Given the description of an element on the screen output the (x, y) to click on. 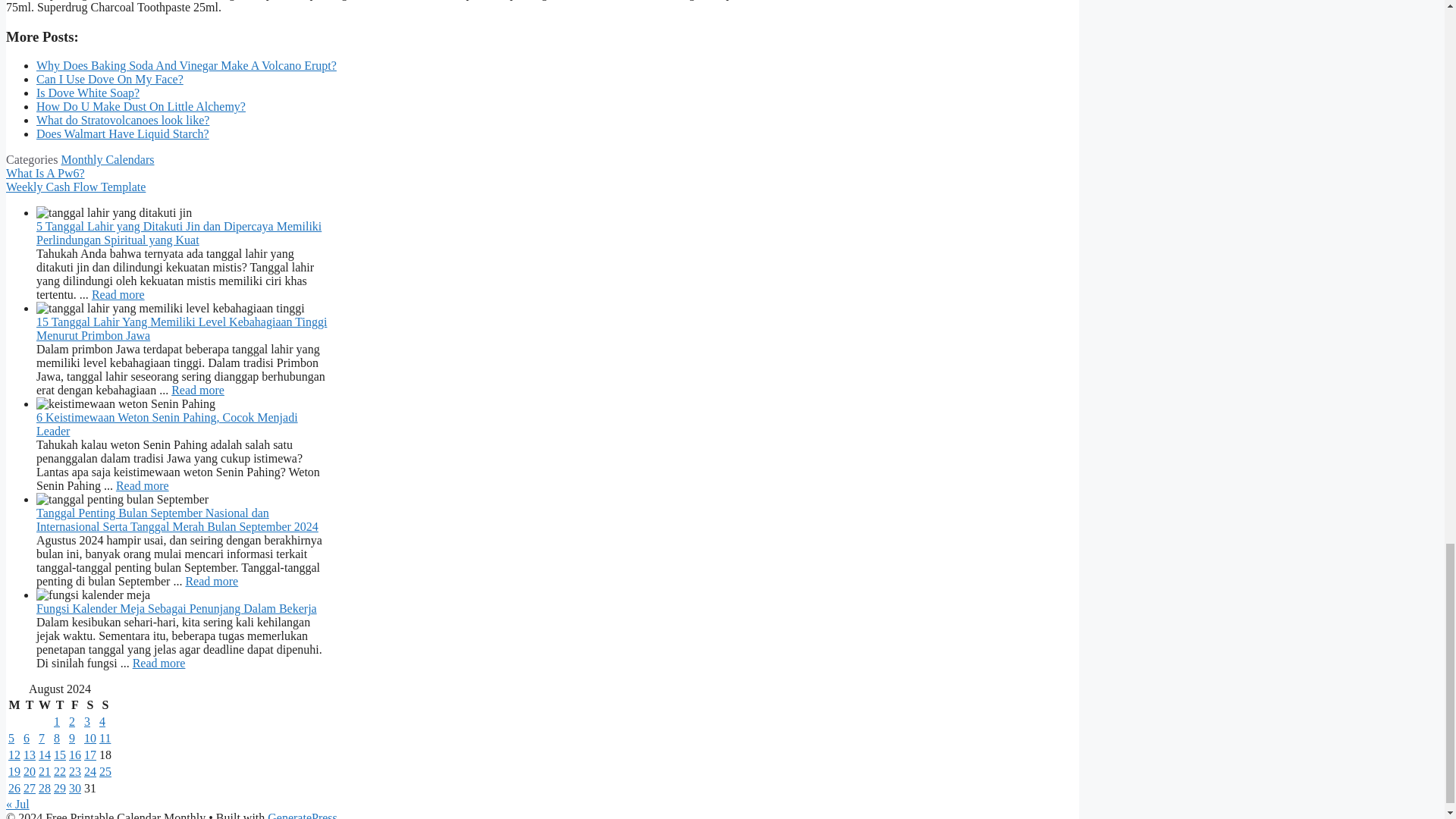
Wednesday (43, 704)
Monday (14, 704)
How Do U Make Dust On Little Alchemy? (141, 106)
6 Keistimewaan Weton Senin Pahing, Cocok Menjadi Leader (142, 485)
Why Does Baking Soda And Vinegar Make A Volcano Erupt? (186, 65)
Tuesday (29, 704)
Saturday (89, 704)
Can I Use Dove On My Face? (109, 78)
